Given the description of an element on the screen output the (x, y) to click on. 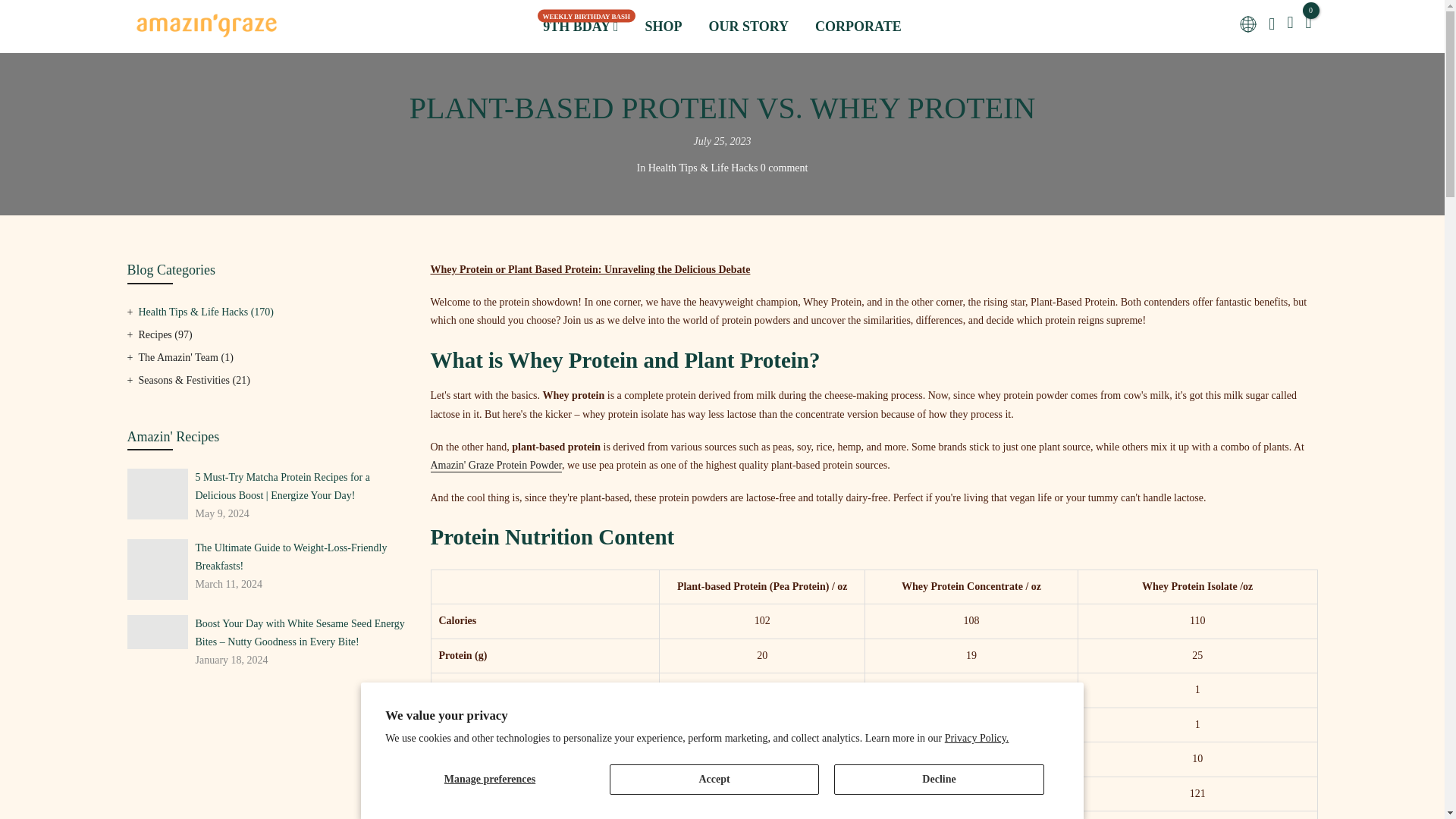
CORPORATE (807, 26)
SHOP (612, 26)
The Ultimate Guide to Weight-Loss-Friendly Breakfasts! (301, 556)
OUR STORY (698, 26)
0 comment (784, 167)
Amazin' Graze Protein Powder (496, 465)
